Given the description of an element on the screen output the (x, y) to click on. 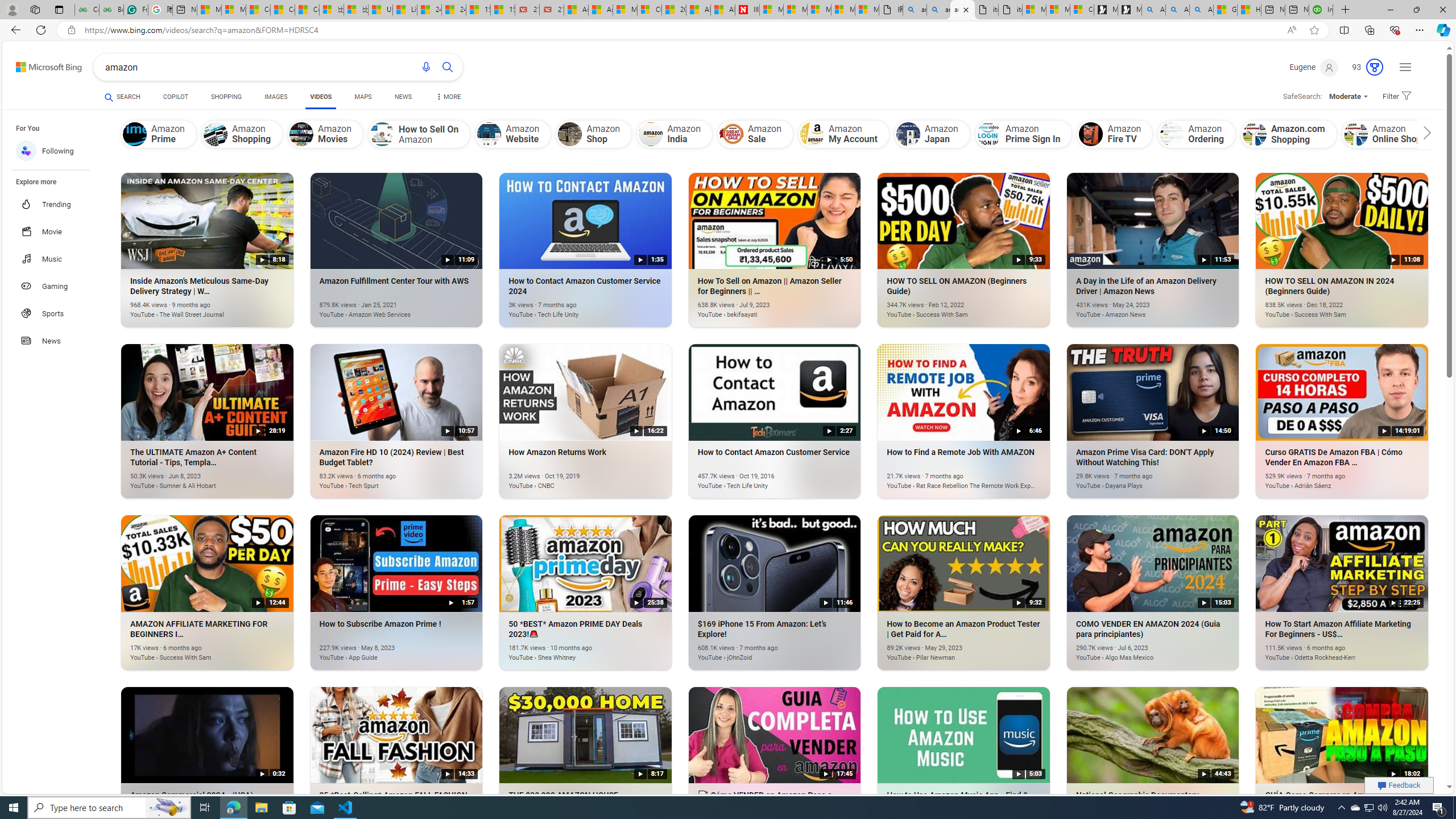
Trending (56, 204)
NEWS (403, 98)
Amazon India (650, 133)
MAPS (363, 96)
How to Find a Remote Job With AMAZON (946, 479)
